Given the description of an element on the screen output the (x, y) to click on. 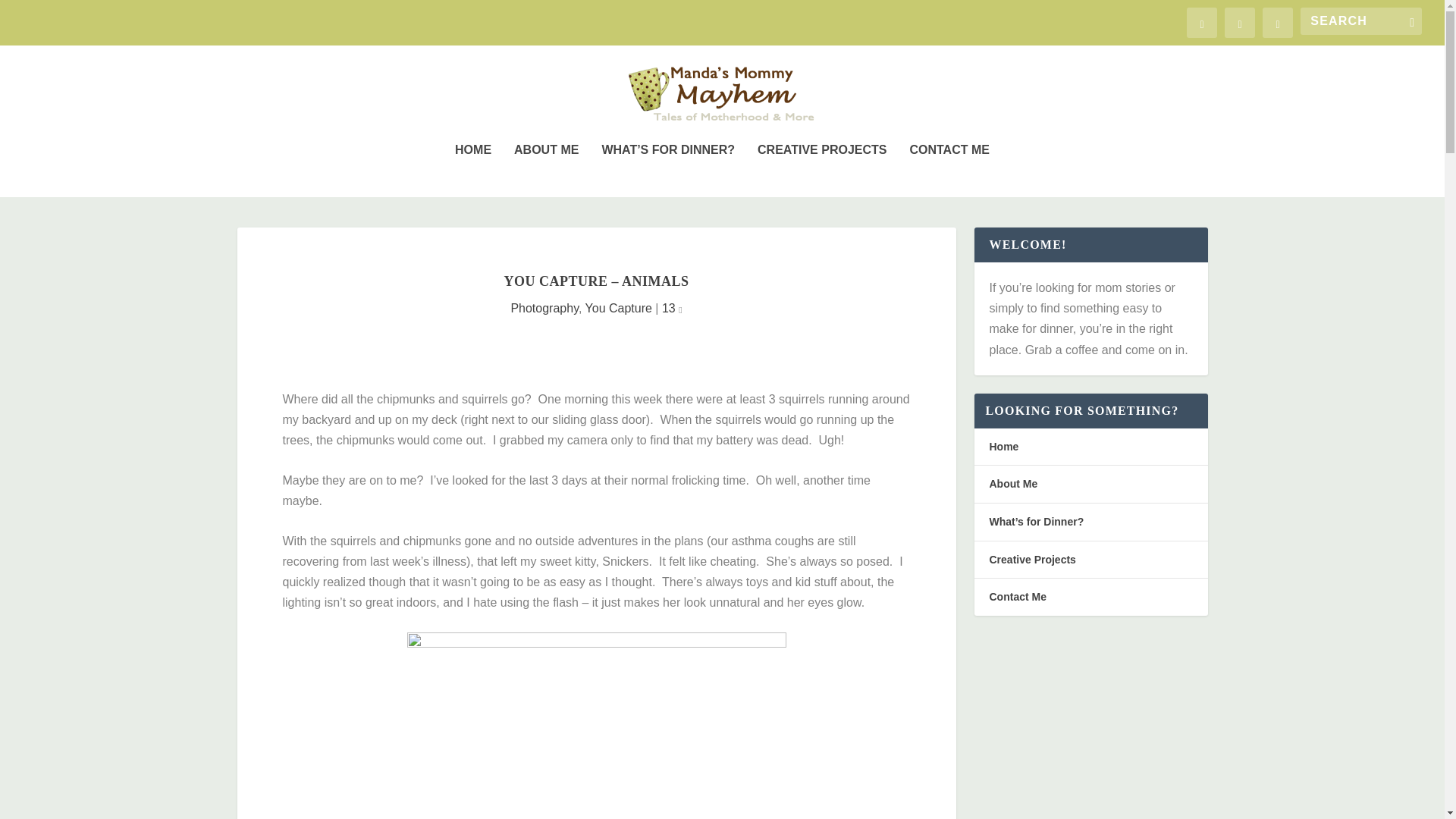
You Capture (618, 308)
13 (672, 308)
CONTACT ME (948, 170)
ABOUT ME (545, 170)
Search for: (1361, 21)
Snickers (596, 725)
Photography (544, 308)
CREATIVE PROJECTS (821, 170)
